Given the description of an element on the screen output the (x, y) to click on. 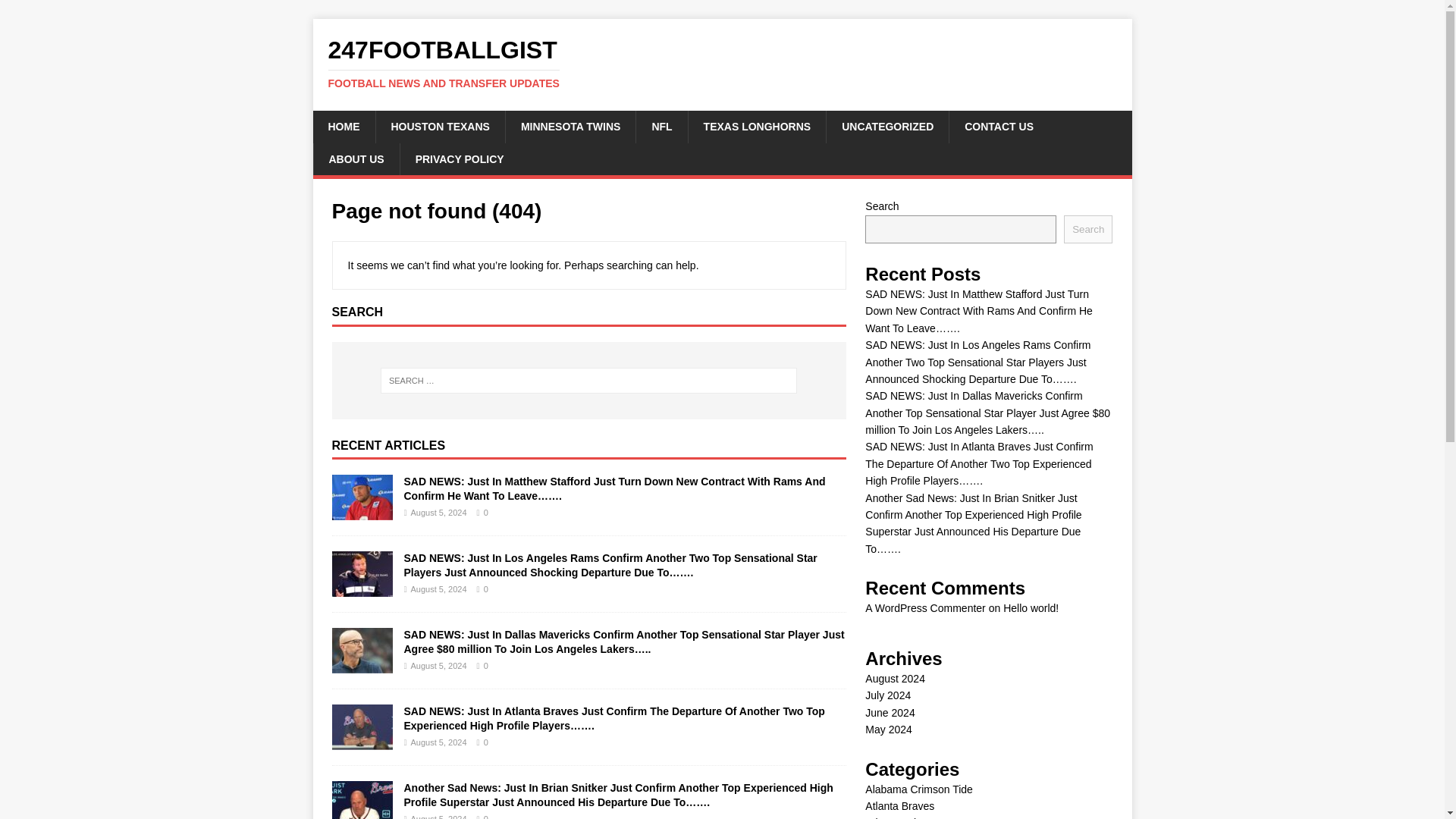
CONTACT US (998, 126)
UNCATEGORIZED (887, 126)
247footballgist (721, 63)
Search (56, 11)
MINNESOTA TWINS (569, 126)
NFL (660, 126)
Search (1088, 229)
ABOUT US (721, 63)
